Given the description of an element on the screen output the (x, y) to click on. 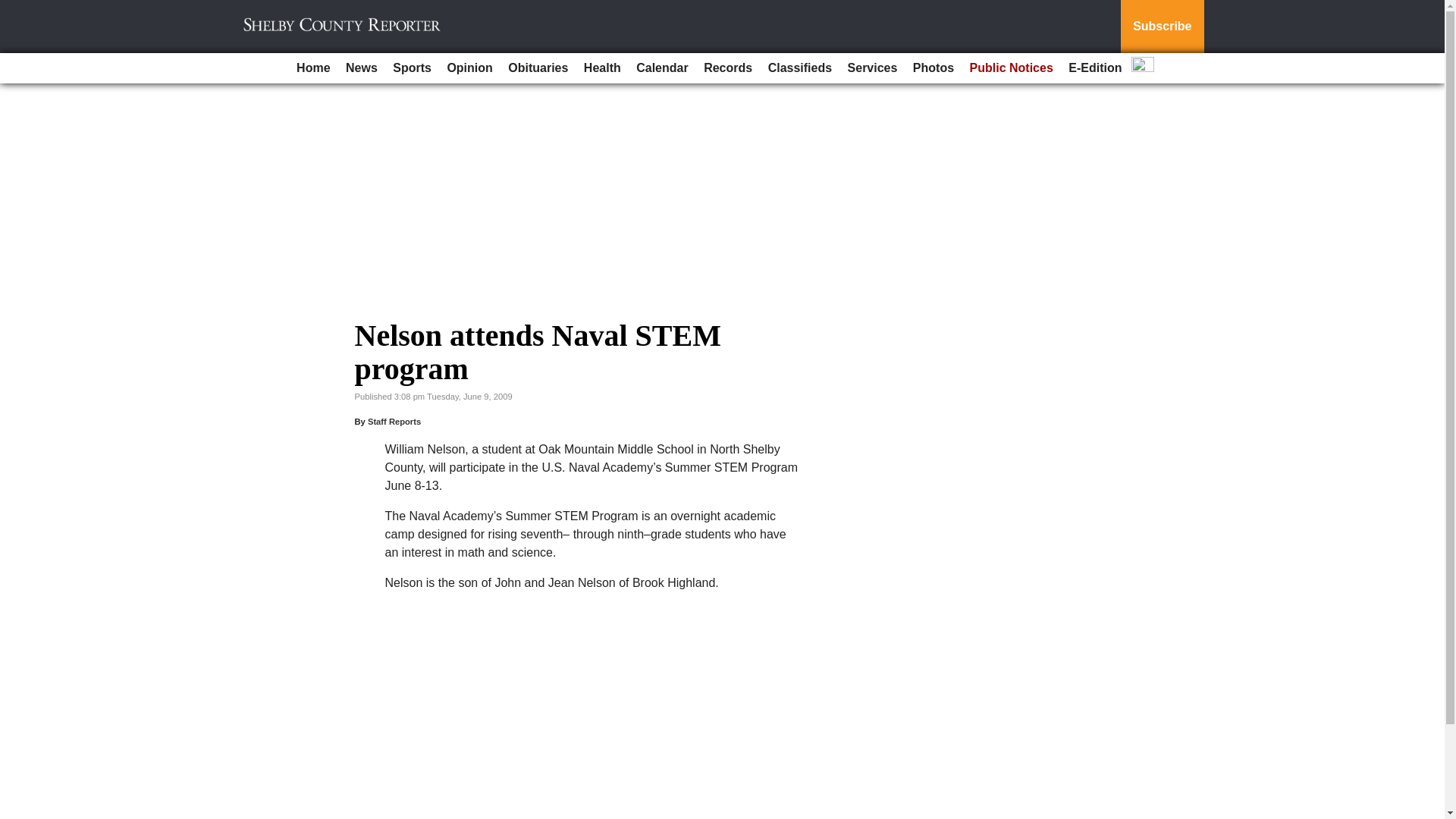
Subscribe (1162, 26)
Sports (412, 68)
Classifieds (799, 68)
Obituaries (537, 68)
News (361, 68)
Calendar (662, 68)
Services (872, 68)
Records (727, 68)
Health (602, 68)
Opinion (469, 68)
